Given the description of an element on the screen output the (x, y) to click on. 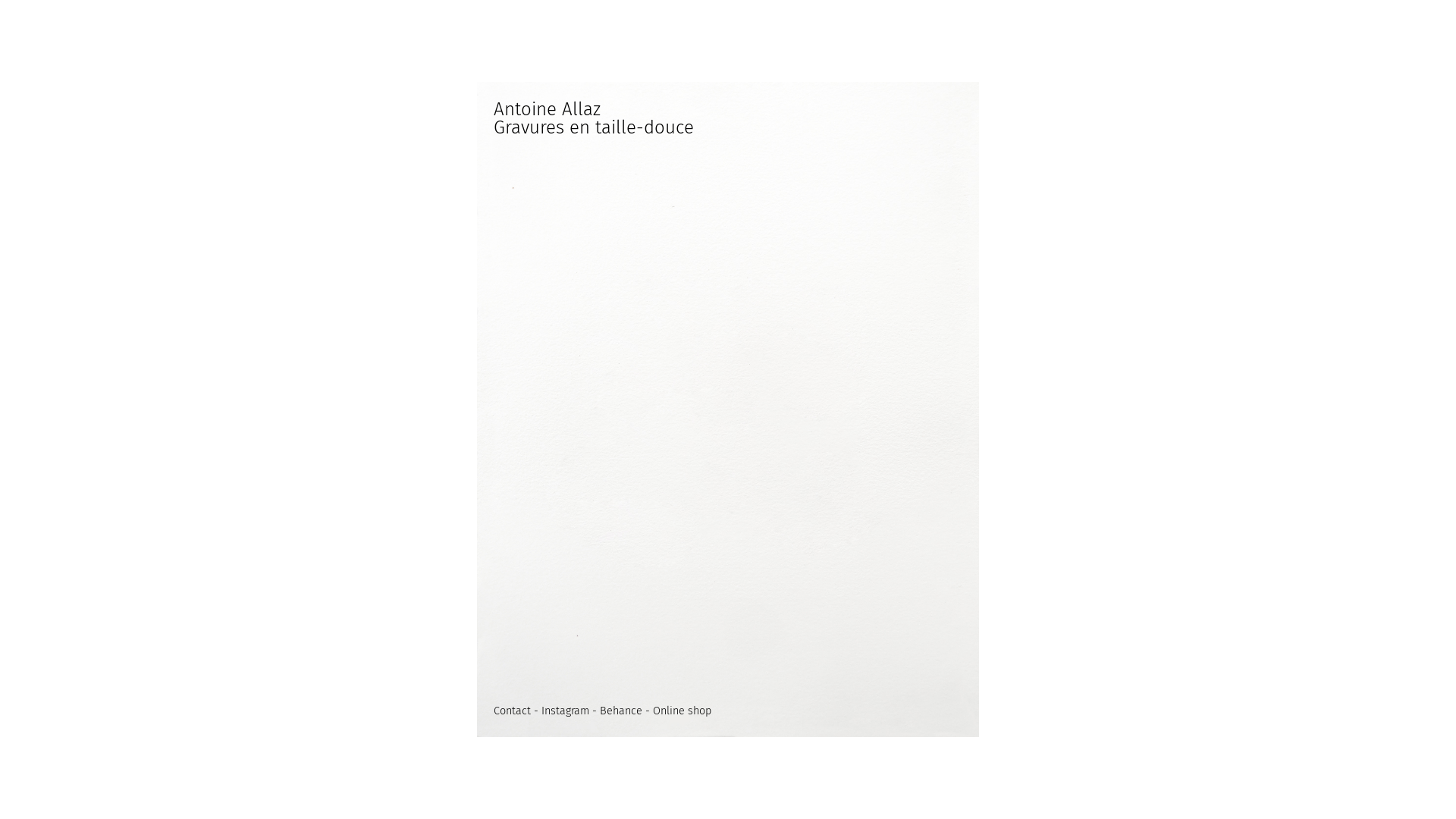
Contact Element type: text (511, 710)
Instagram Element type: text (565, 710)
Behance Element type: text (620, 710)
Online shop Element type: text (681, 710)
